Given the description of an element on the screen output the (x, y) to click on. 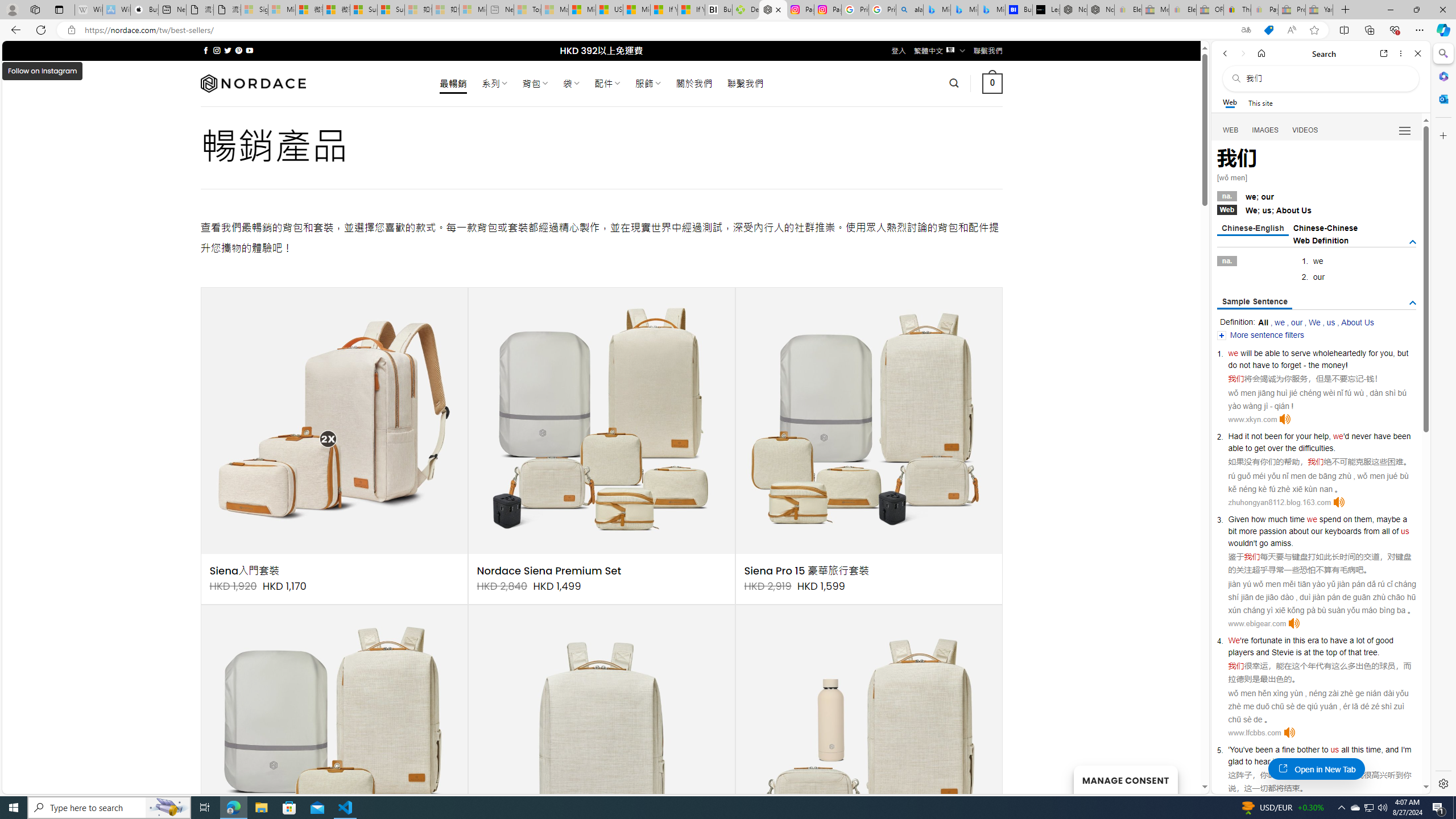
money (1332, 364)
more (1248, 530)
Microsoft Bing Travel - Shangri-La Hotel Bangkok (991, 9)
Web Definition (1321, 240)
